Given the description of an element on the screen output the (x, y) to click on. 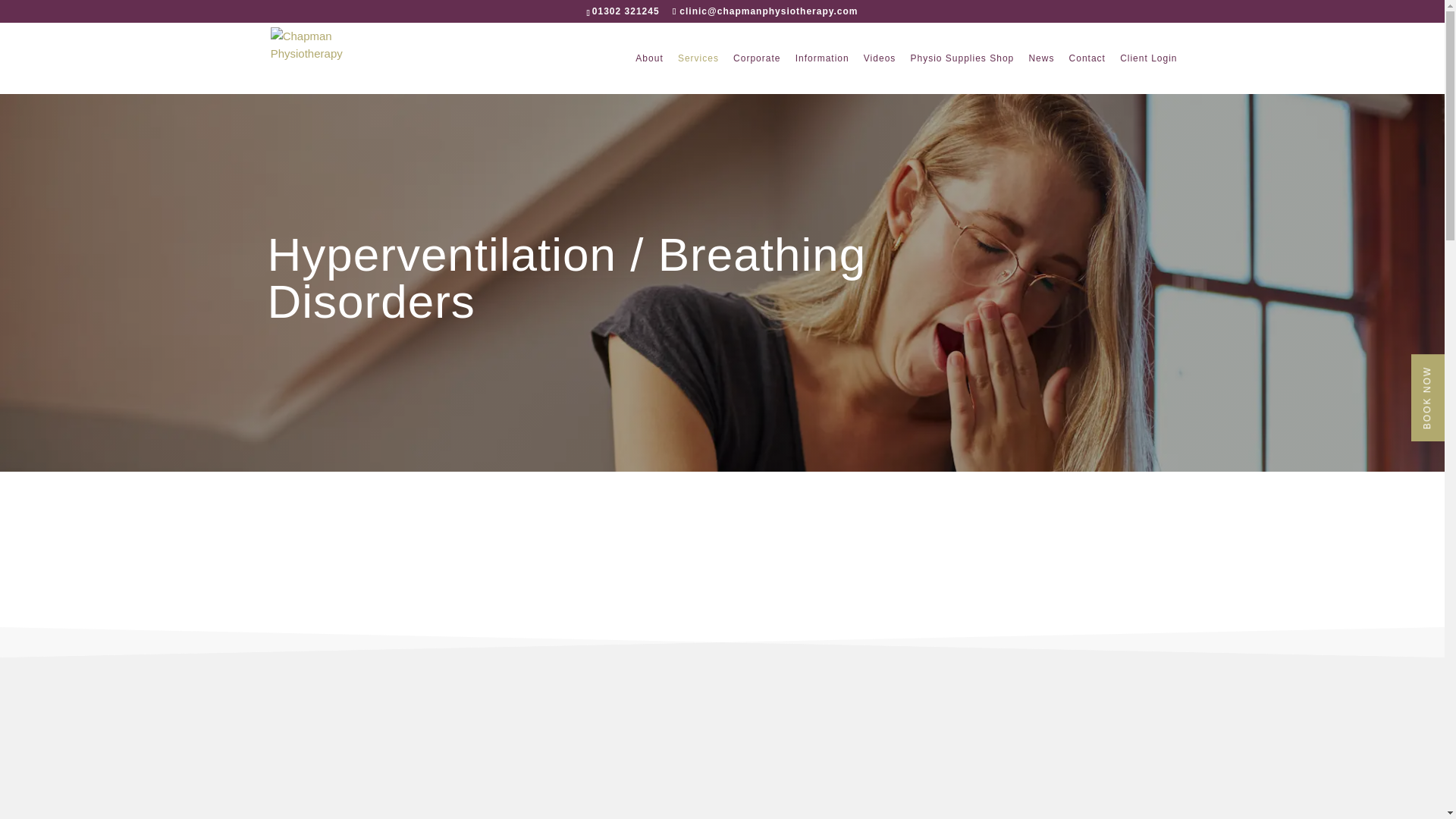
Corporate (756, 73)
Information (821, 73)
About (648, 73)
Services (698, 73)
